Given the description of an element on the screen output the (x, y) to click on. 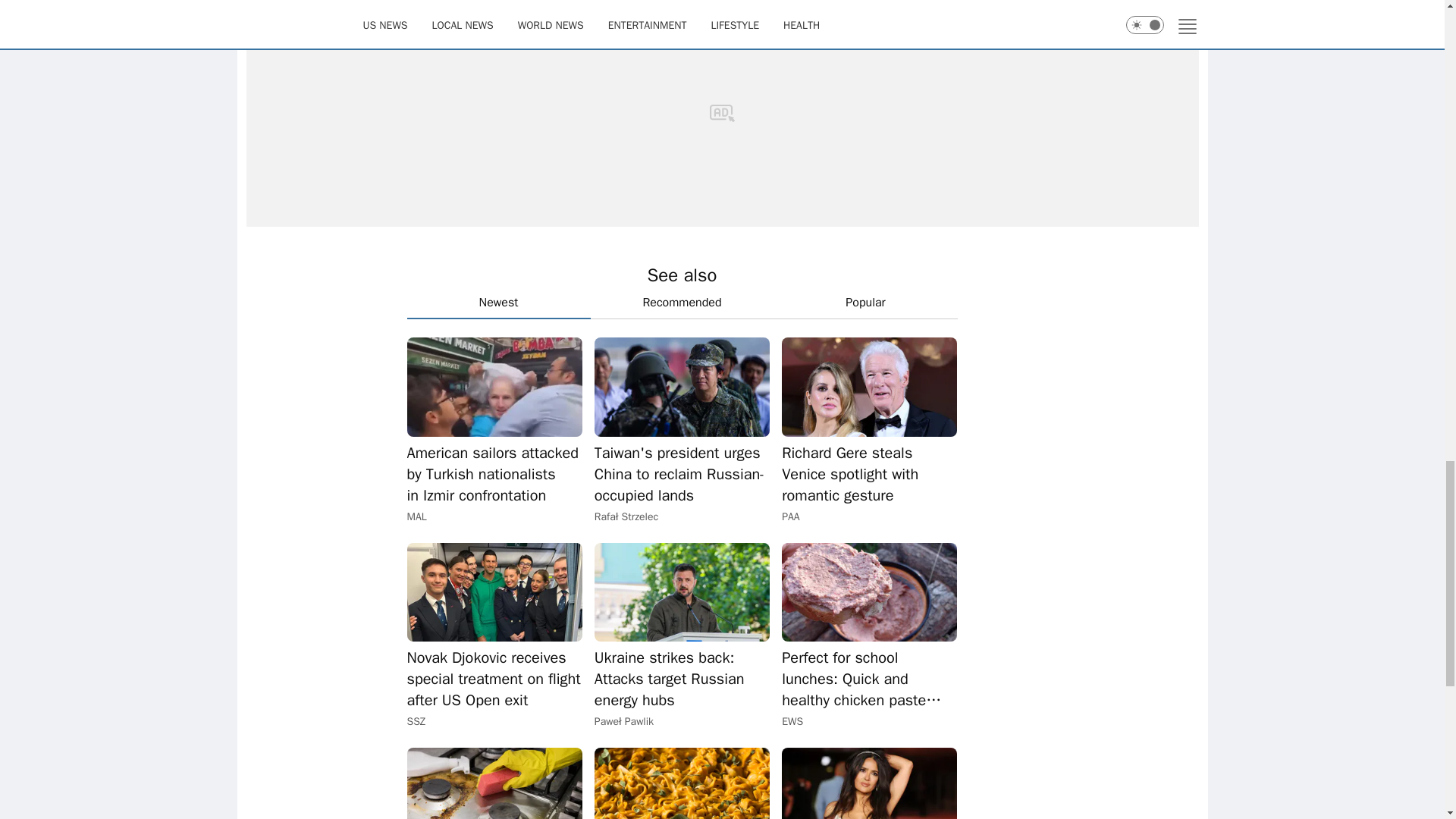
Ukraine strikes back: Attacks target Russian energy hubs (682, 679)
Richard Gere steals Venice spotlight with romantic gesture (868, 386)
Richard Gere steals Venice spotlight with romantic gesture (868, 474)
Popular (864, 302)
Newest (497, 303)
